Given the description of an element on the screen output the (x, y) to click on. 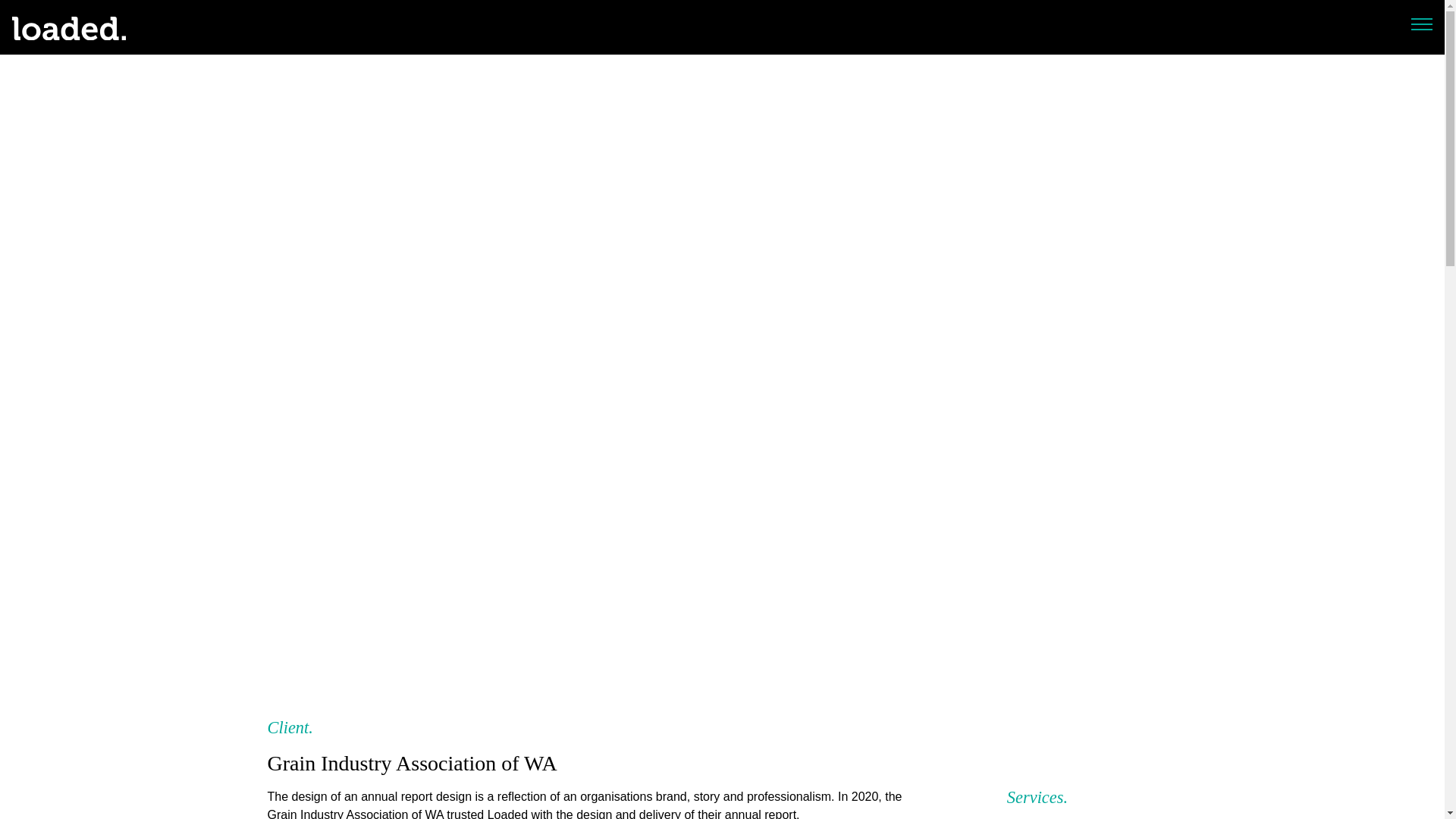
Loaded Communications (68, 27)
